Given the description of an element on the screen output the (x, y) to click on. 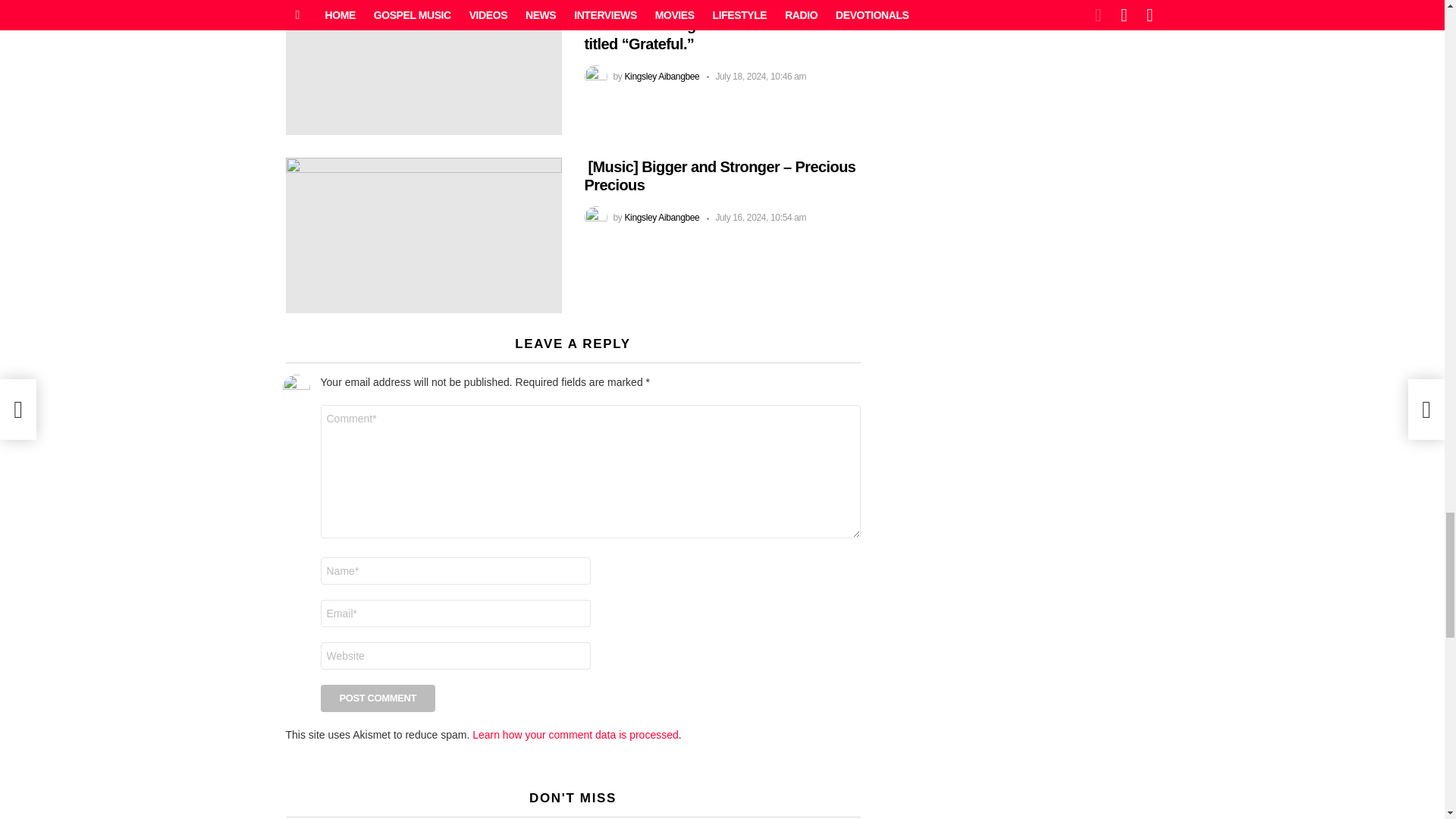
Post Comment (377, 697)
